Given the description of an element on the screen output the (x, y) to click on. 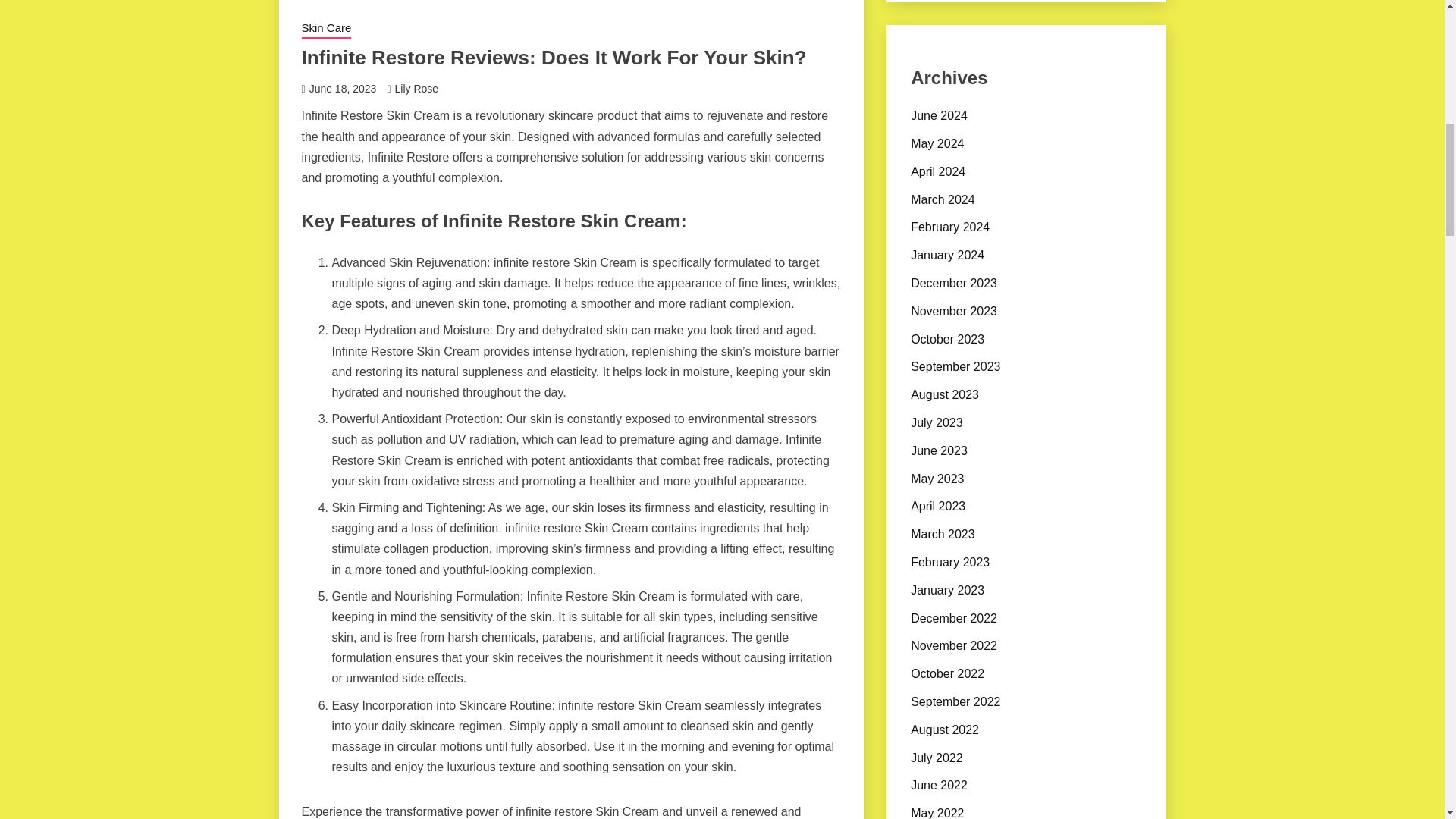
Skin Care (326, 29)
June 18, 2023 (342, 88)
Lily Rose (416, 88)
